Given the description of an element on the screen output the (x, y) to click on. 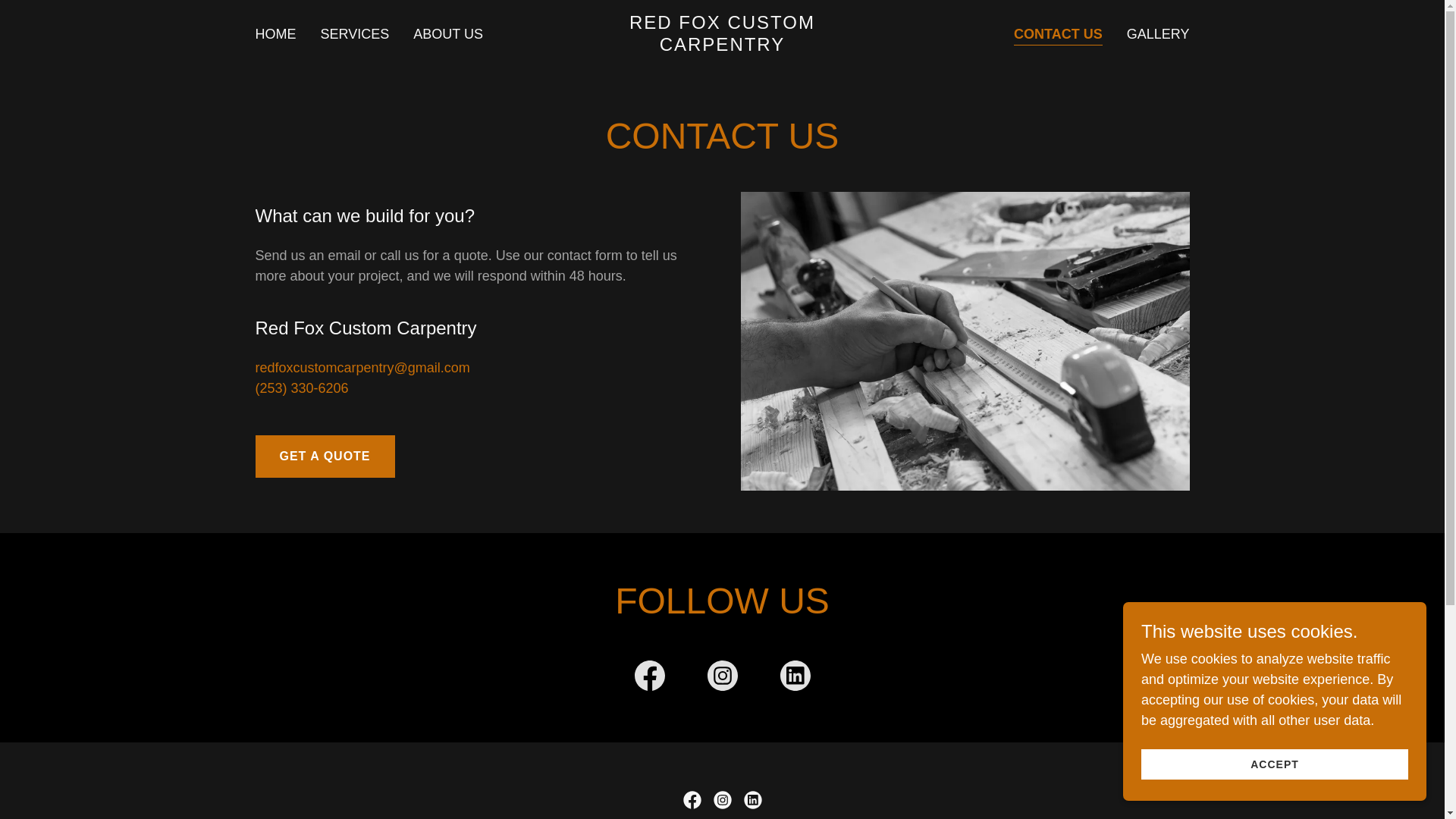
ABOUT US (448, 33)
CONTACT US (1057, 35)
GALLERY (1157, 33)
SERVICES (354, 33)
GET A QUOTE (324, 455)
RED FOX CUSTOM CARPENTRY (721, 46)
HOME (274, 33)
Red Fox Custom Carpentry (721, 46)
